Given the description of an element on the screen output the (x, y) to click on. 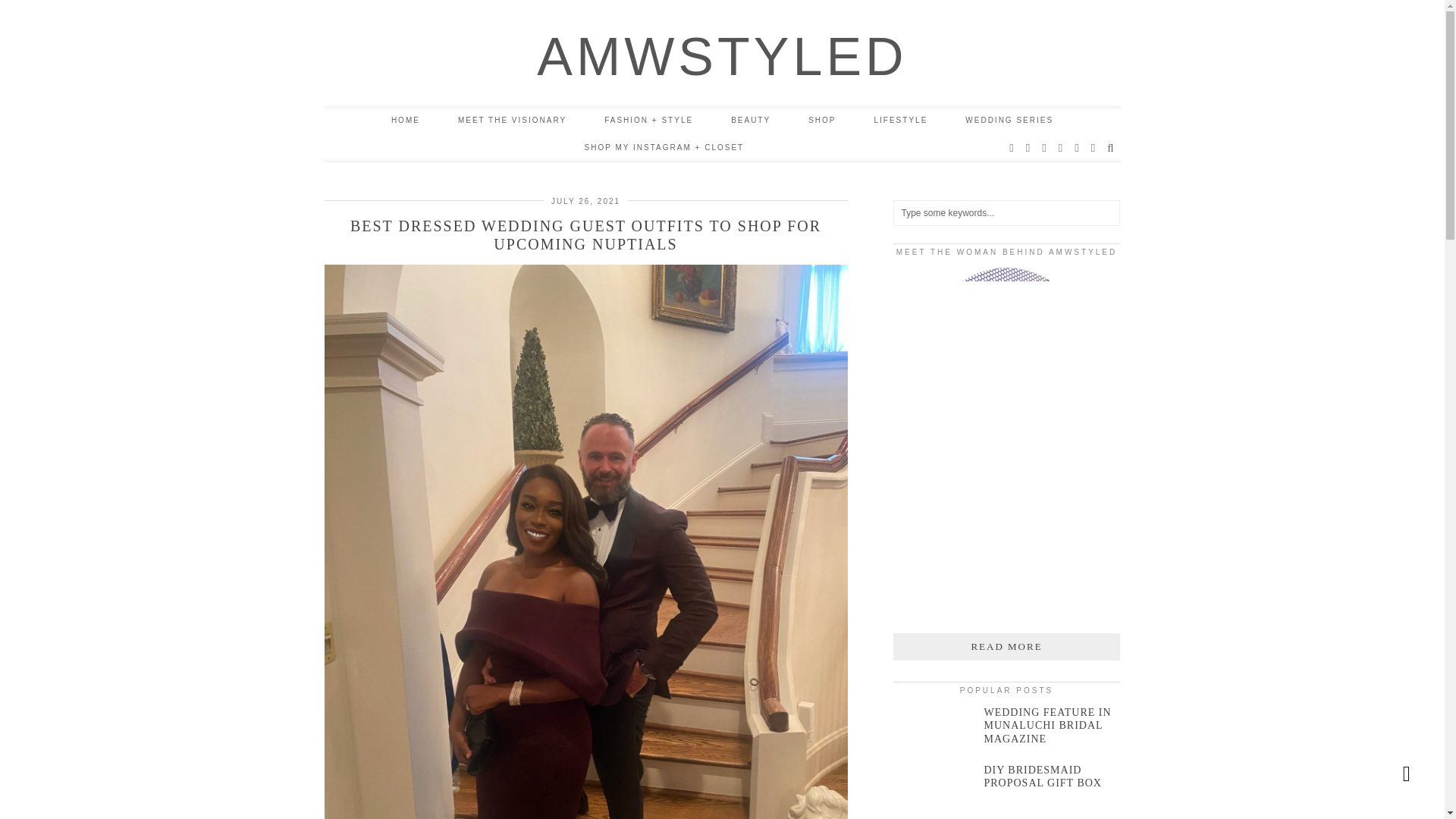
LIFESTYLE (901, 120)
AMWSTYLED (722, 56)
MEET THE VISIONARY (512, 120)
READ MORE (1007, 646)
SHOP (821, 120)
AMWSTYLED (722, 56)
WEDDING SERIES (1008, 120)
HOME (405, 120)
BEAUTY (750, 120)
